Given the description of an element on the screen output the (x, y) to click on. 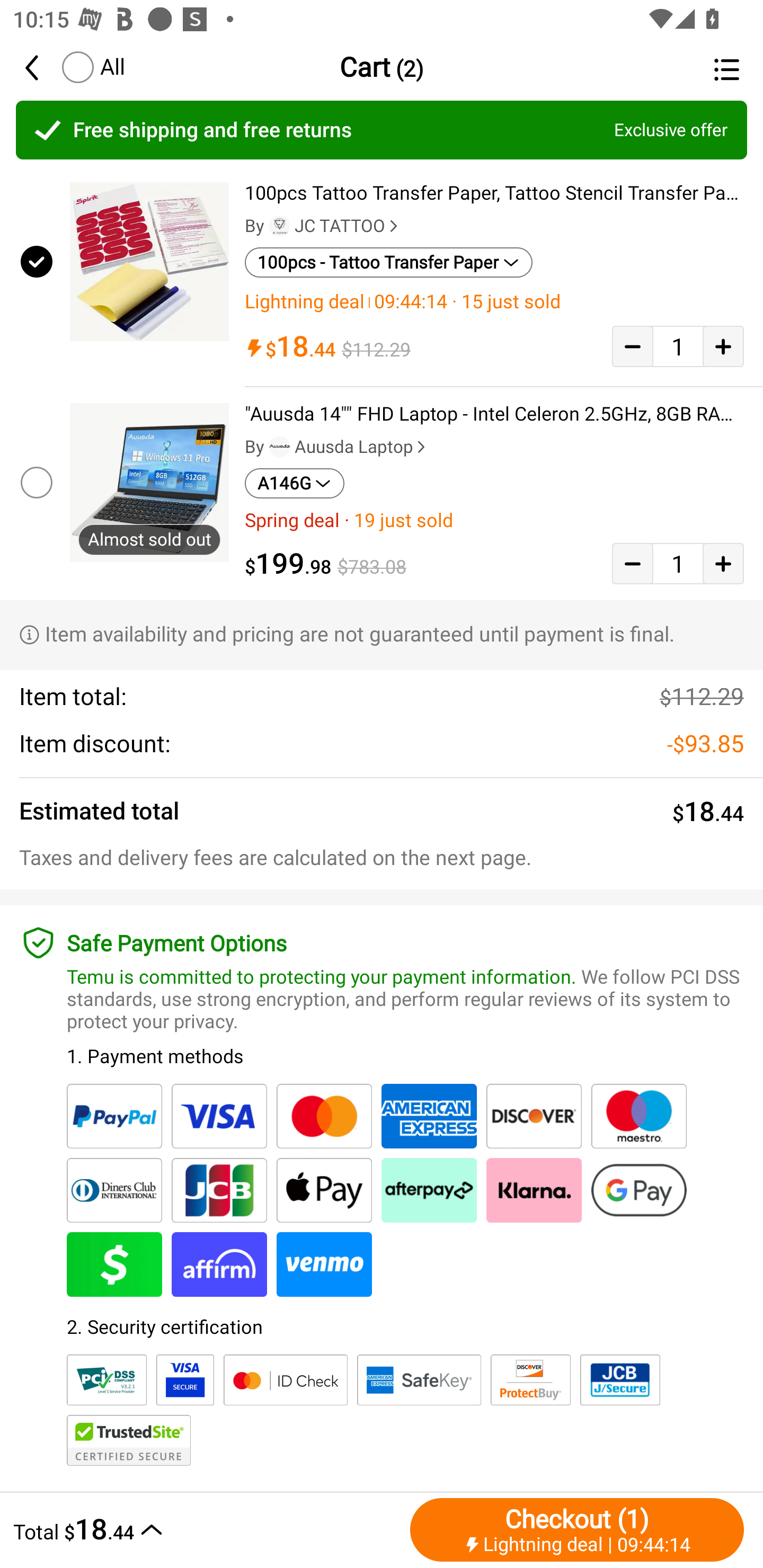
back (41, 67)
Select all tick button All (92, 67)
Free shipping and free returns Exclusive offer (381, 129)
Product checkbox checked (35, 260)
By JC TATTOO (322, 226)
100pcs - Tattoo Transfer Paper (388, 262)
Decrease quantity button (632, 346)
1 (677, 346)
Add quantity button (722, 346)
Product checkbox uncheck (35, 481)
By Auusda Laptop (336, 446)
A146G (294, 483)
Decrease quantity button (632, 563)
1 (677, 563)
Add quantity button (722, 563)
Total $18.44 (206, 1529)
Checkout Checkout (1) ￼Lightning deal | ￼ (576, 1529)
